Given the description of an element on the screen output the (x, y) to click on. 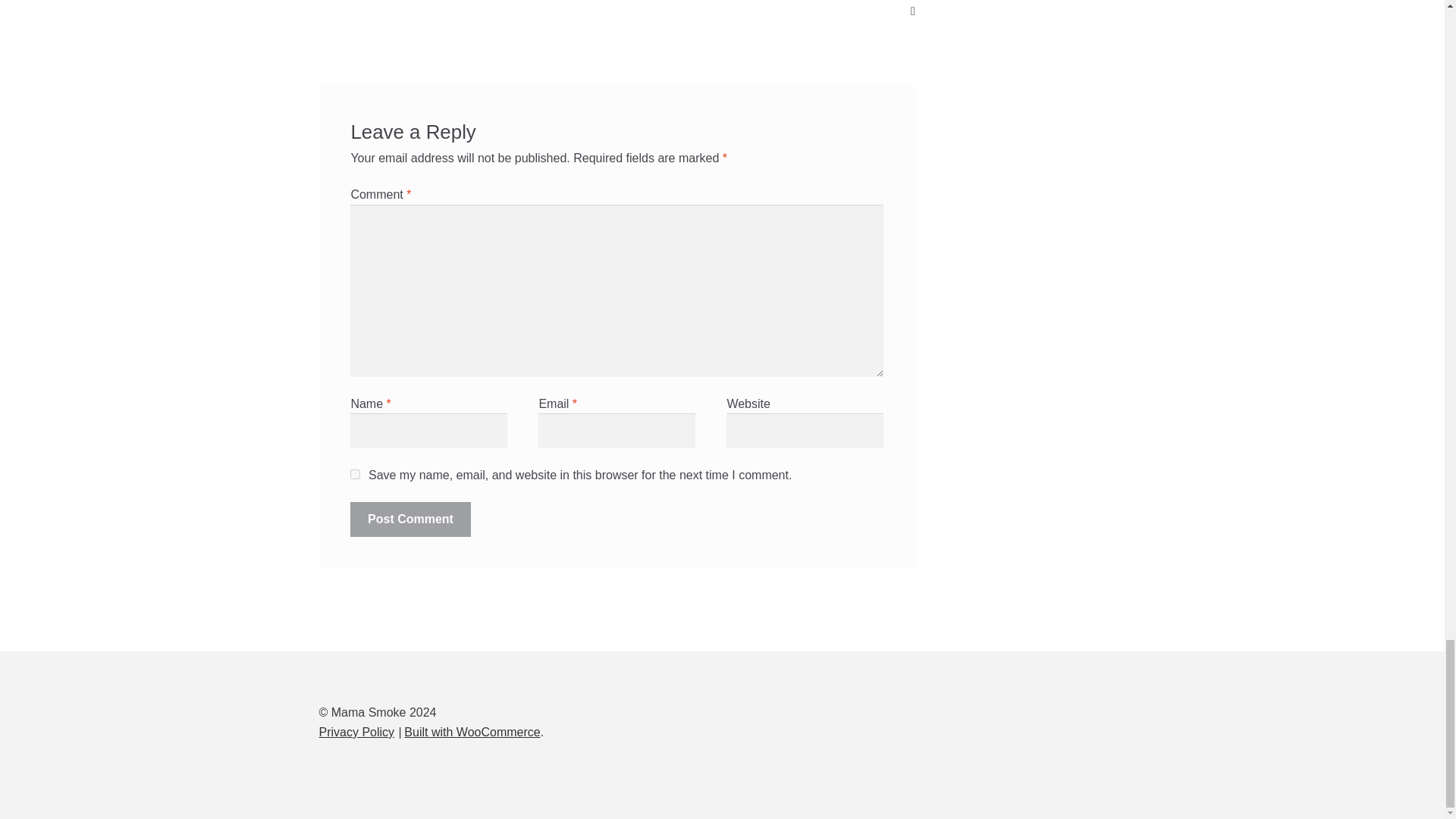
yes (354, 474)
Post Comment (410, 519)
WooCommerce - The Best eCommerce Platform for WordPress (472, 731)
